Given the description of an element on the screen output the (x, y) to click on. 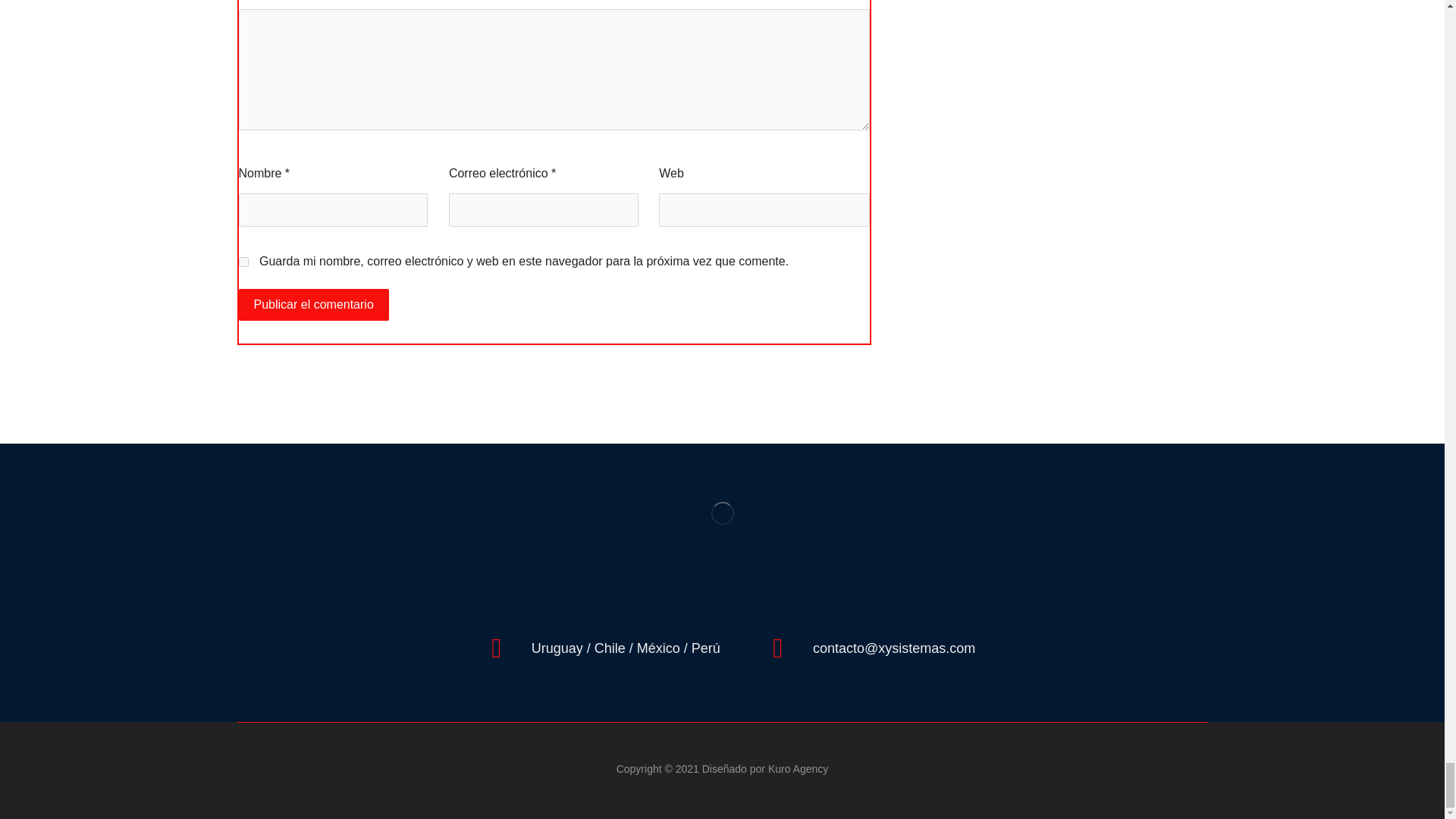
Publicar el comentario (313, 305)
Publicar el comentario (313, 305)
yes (242, 261)
